Given the description of an element on the screen output the (x, y) to click on. 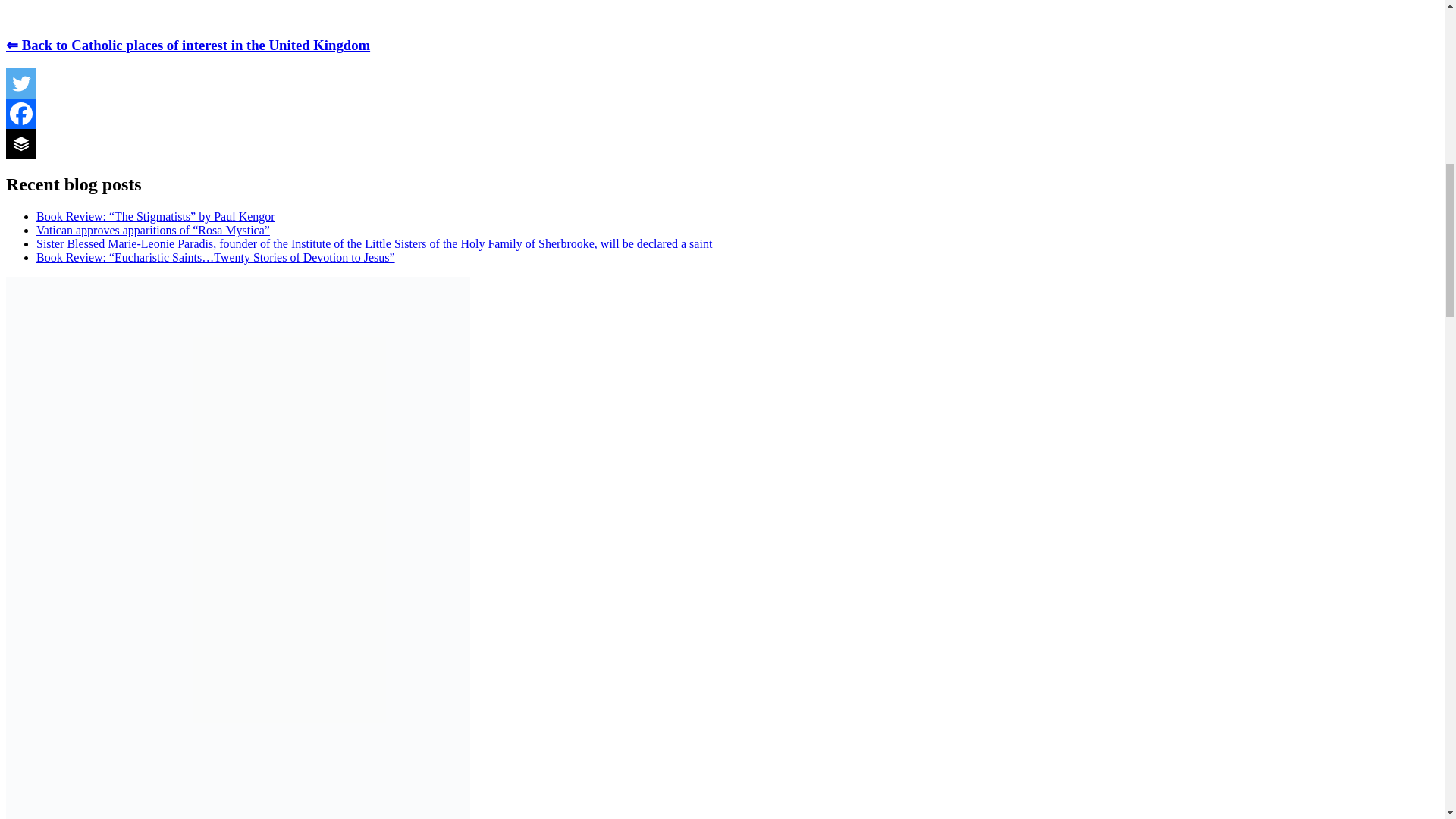
Twitter (20, 82)
Buffer (20, 143)
Facebook (20, 113)
